Given the description of an element on the screen output the (x, y) to click on. 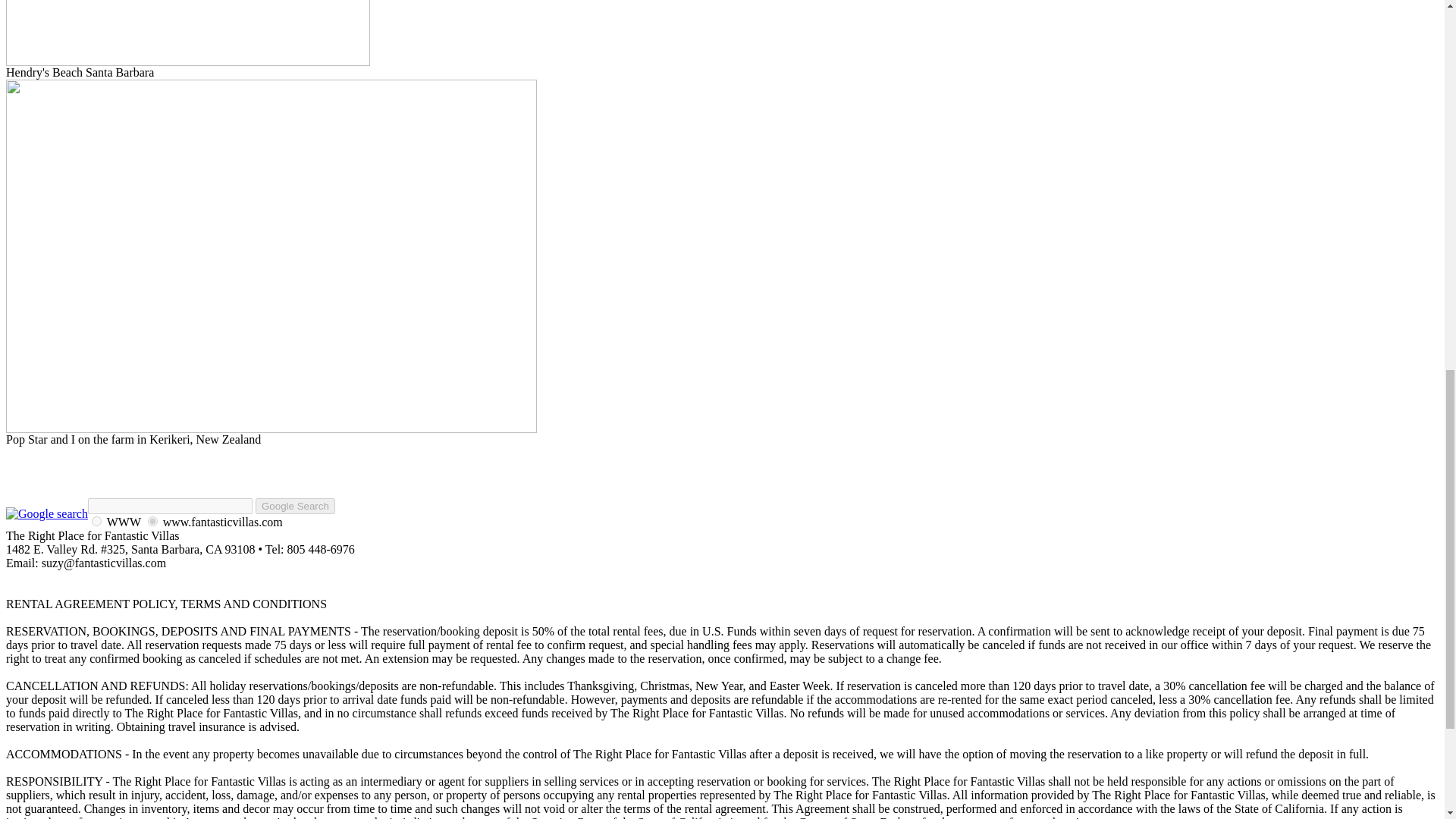
Google Search (295, 505)
www.fantasticvillas.com (152, 521)
Google Search (295, 505)
